Given the description of an element on the screen output the (x, y) to click on. 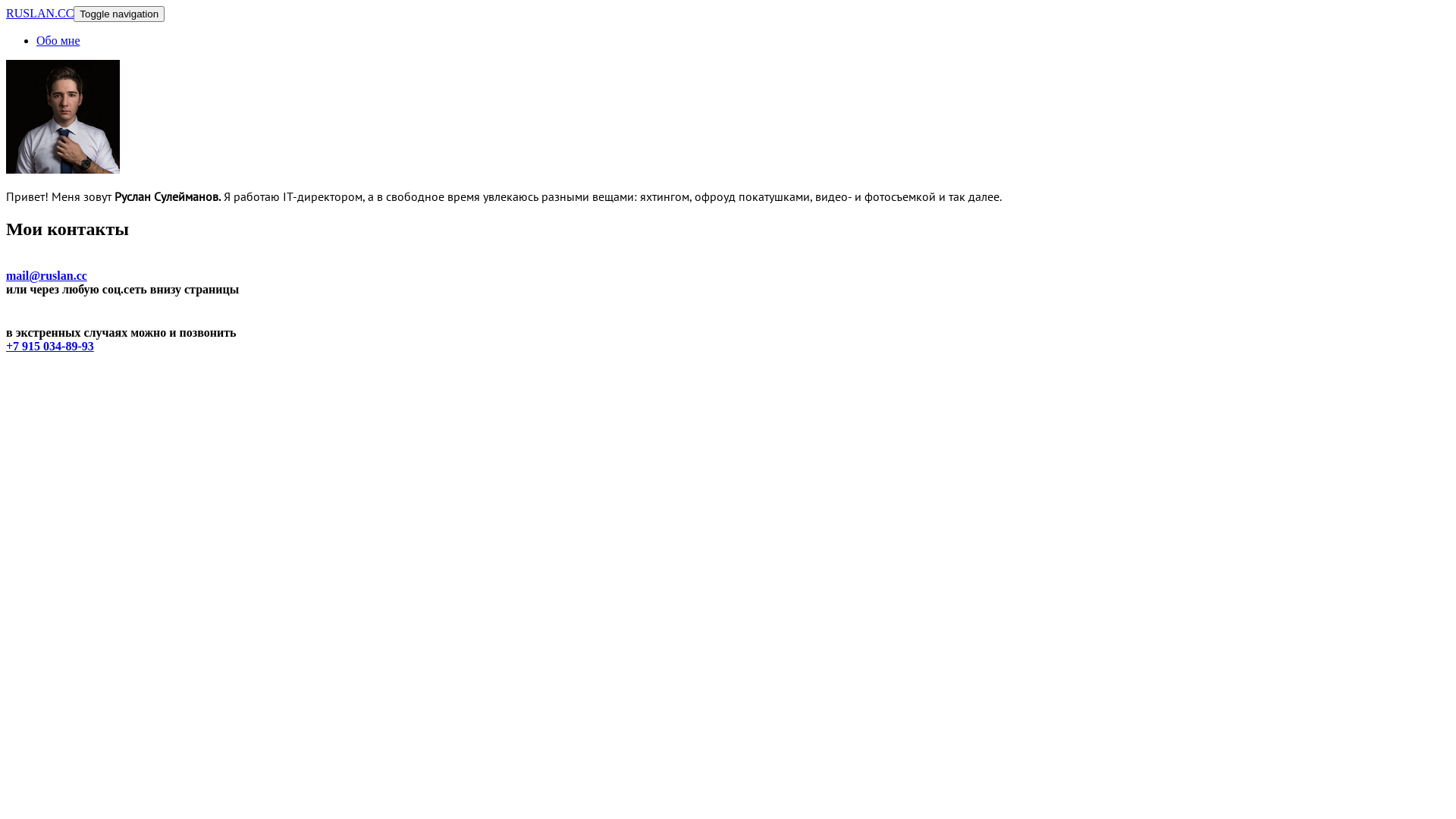
mail@ruslan.cc Element type: text (46, 275)
Toggle navigation Element type: text (118, 13)
+7 915 034-89-93 Element type: text (50, 345)
RUSLAN.CC Element type: text (39, 12)
